Given the description of an element on the screen output the (x, y) to click on. 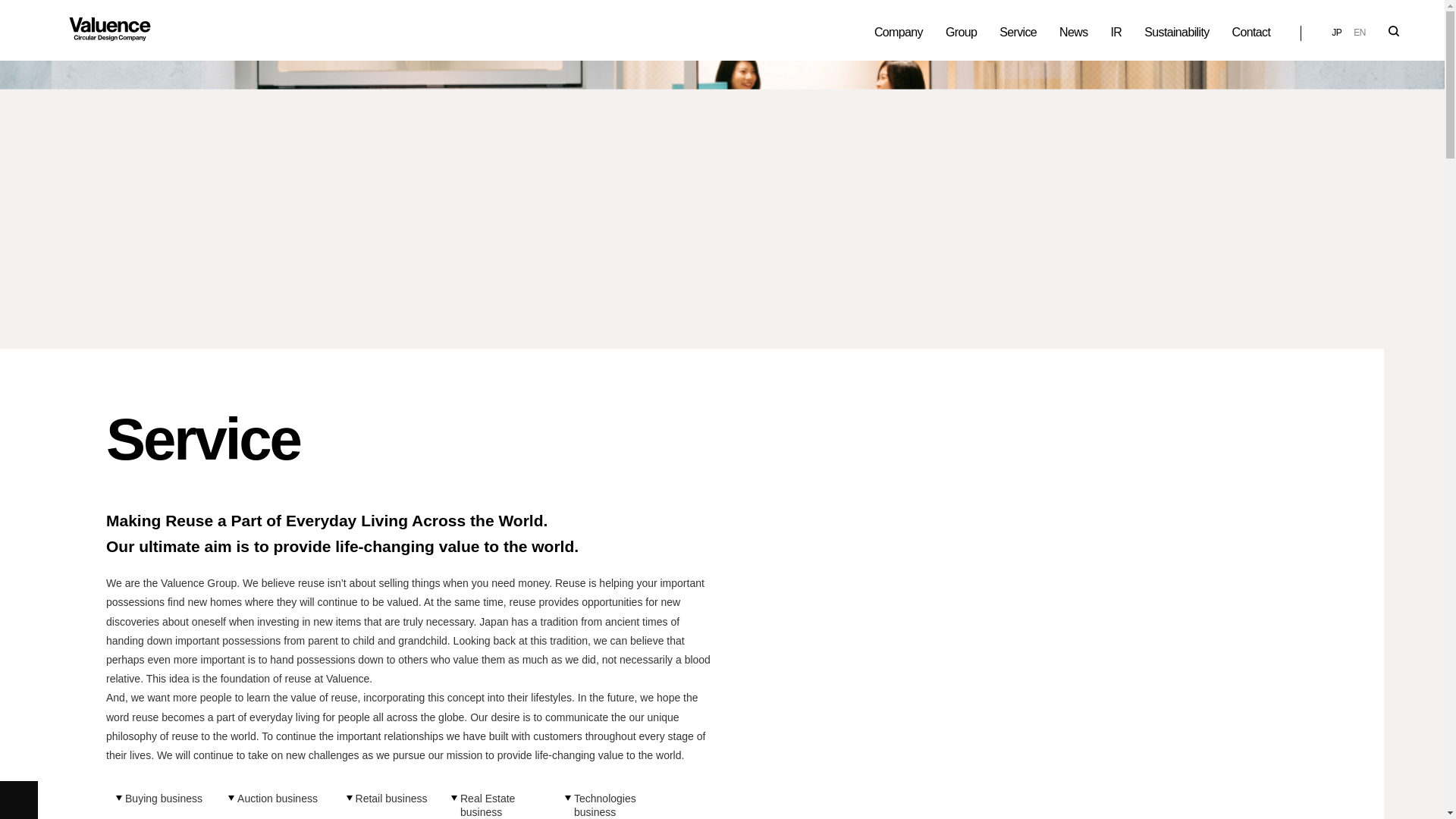
Company (898, 32)
News (1073, 32)
Service (1018, 32)
Group (961, 32)
